Given the description of an element on the screen output the (x, y) to click on. 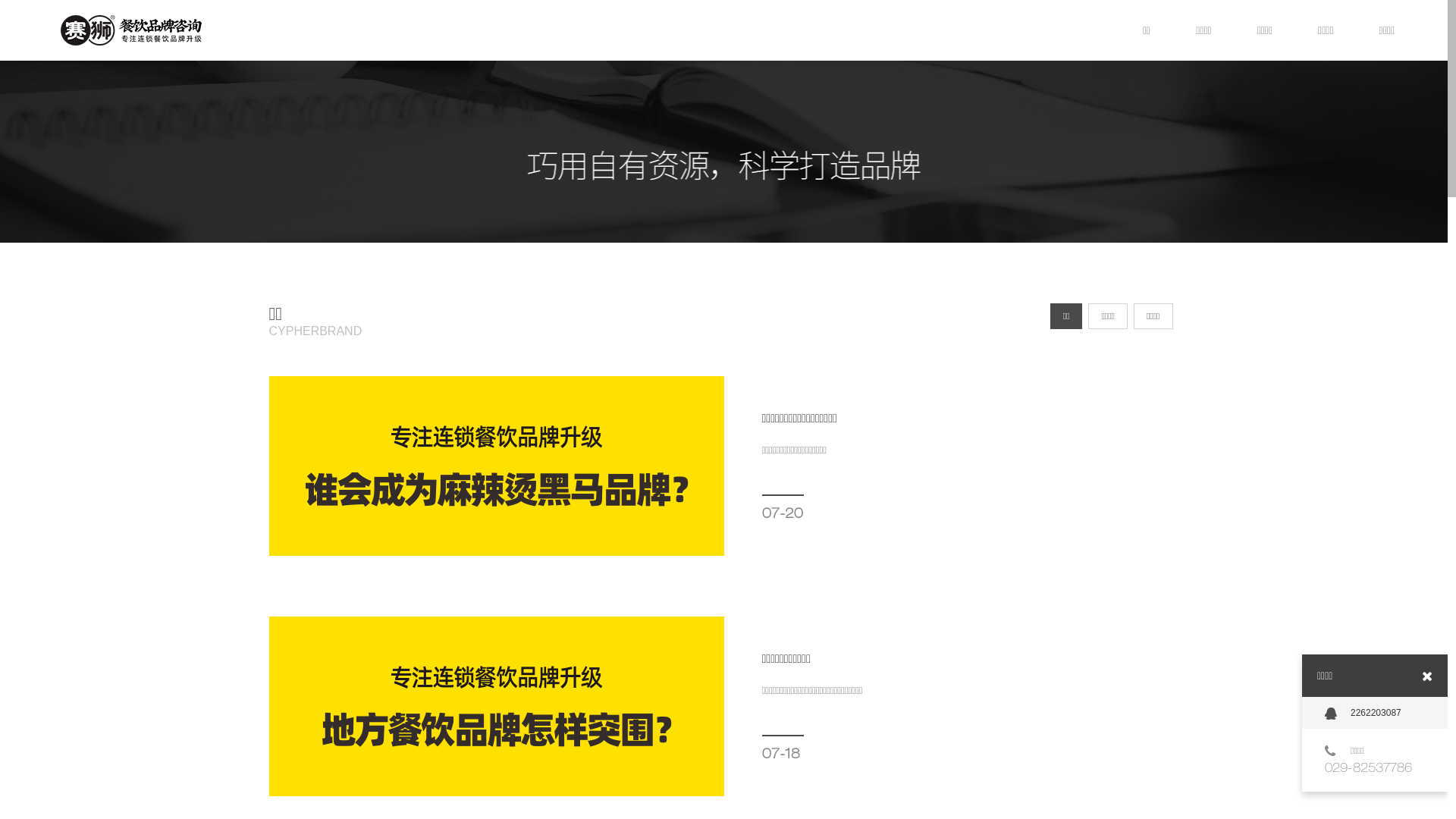
2262203087 Element type: text (1374, 712)
